Given the description of an element on the screen output the (x, y) to click on. 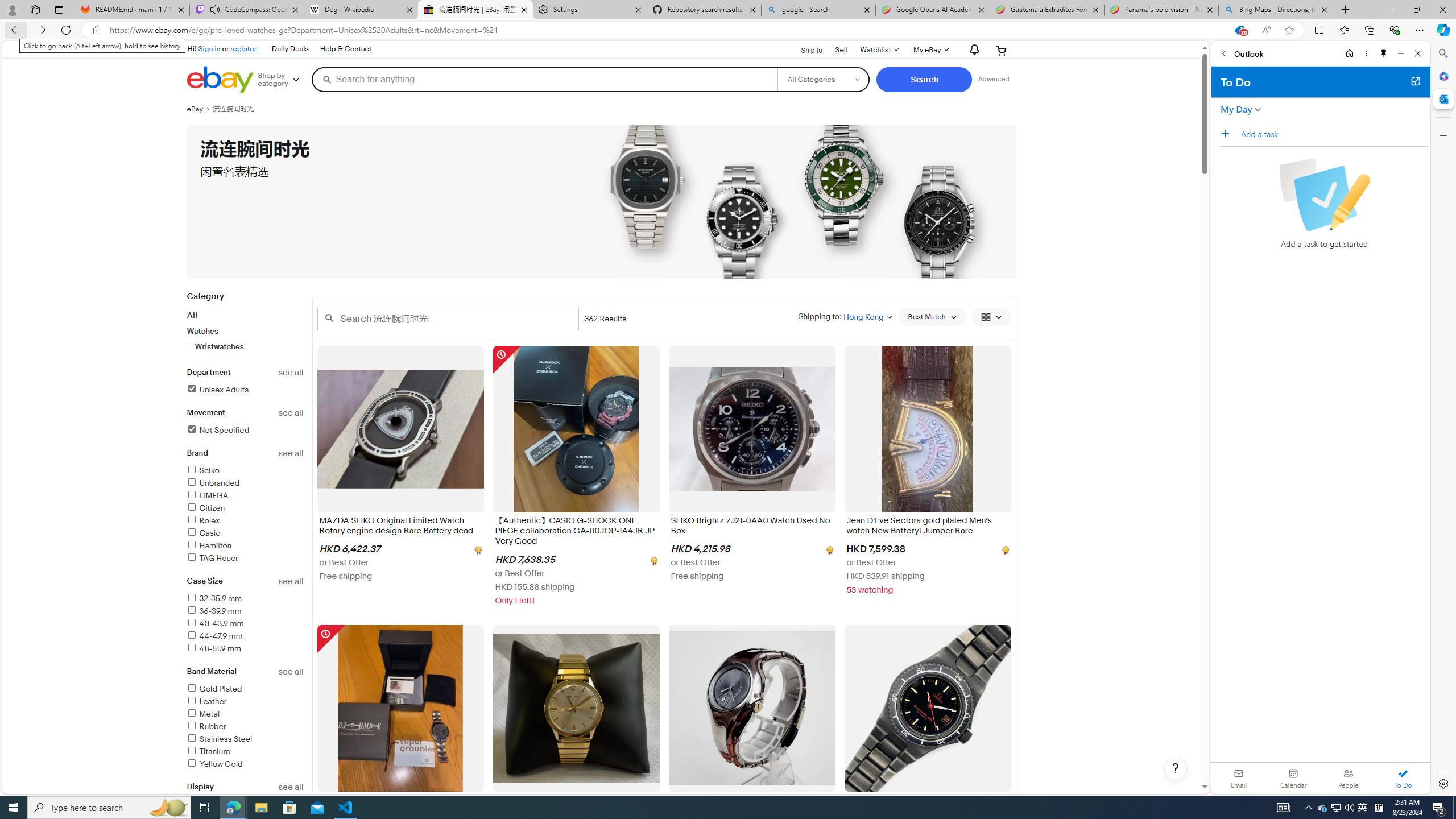
48-51.9 mm (245, 648)
Metal (202, 714)
Sell (841, 49)
All (192, 315)
Yellow Gold (245, 764)
Hamilton (208, 545)
Ship to (804, 50)
Not SpecifiedFilter Applied (245, 430)
Open in new tab (1414, 80)
Casio (245, 533)
WatchesWristwatches (245, 338)
Calendar. Date today is 22 (1293, 777)
